Given the description of an element on the screen output the (x, y) to click on. 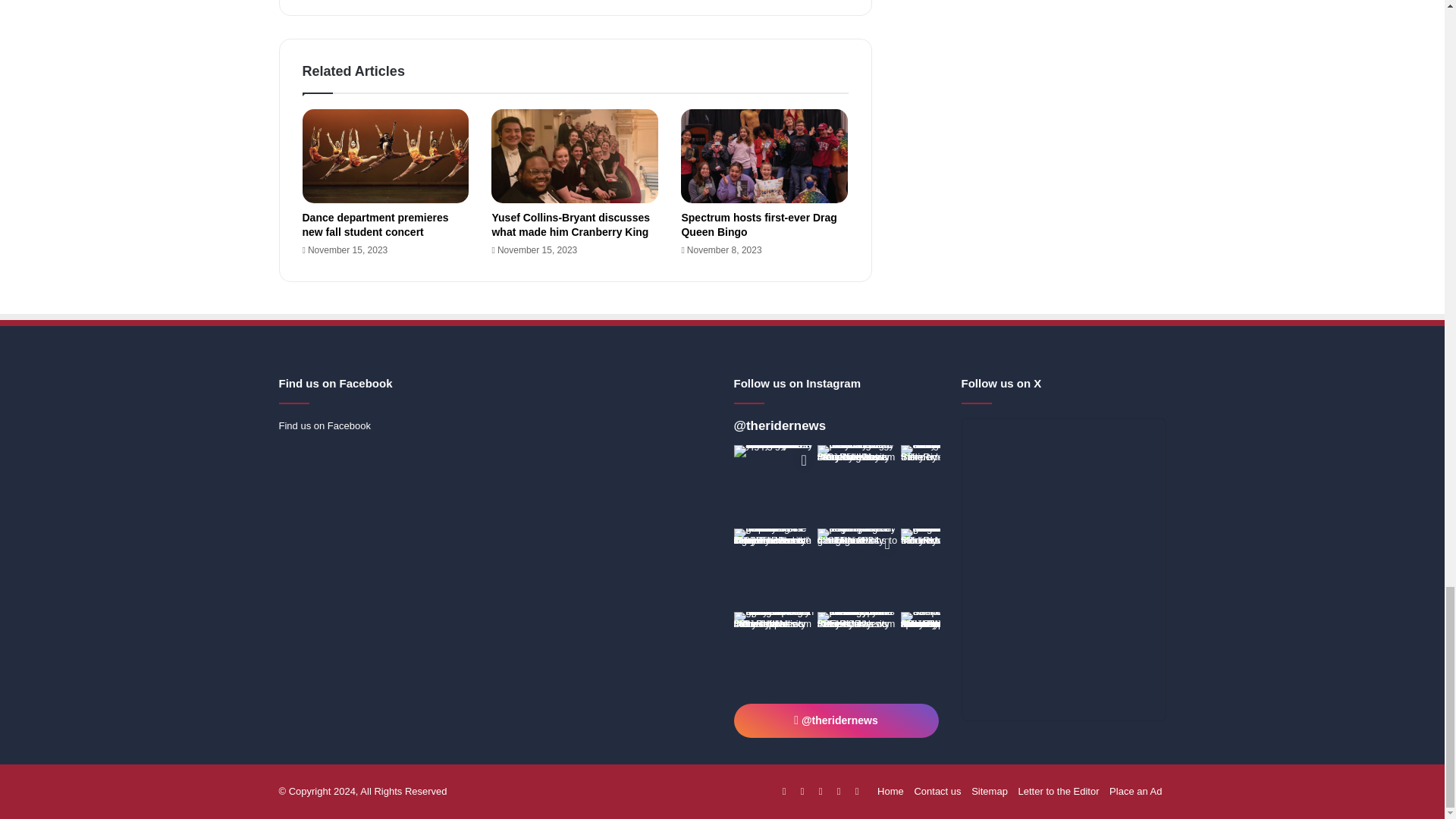
Yusef Collins-Bryant discusses what made him Cranberry King (570, 224)
Dance department premieres new fall student concert  (374, 224)
Spectrum hosts first-ever Drag Queen Bingo (758, 224)
